Given the description of an element on the screen output the (x, y) to click on. 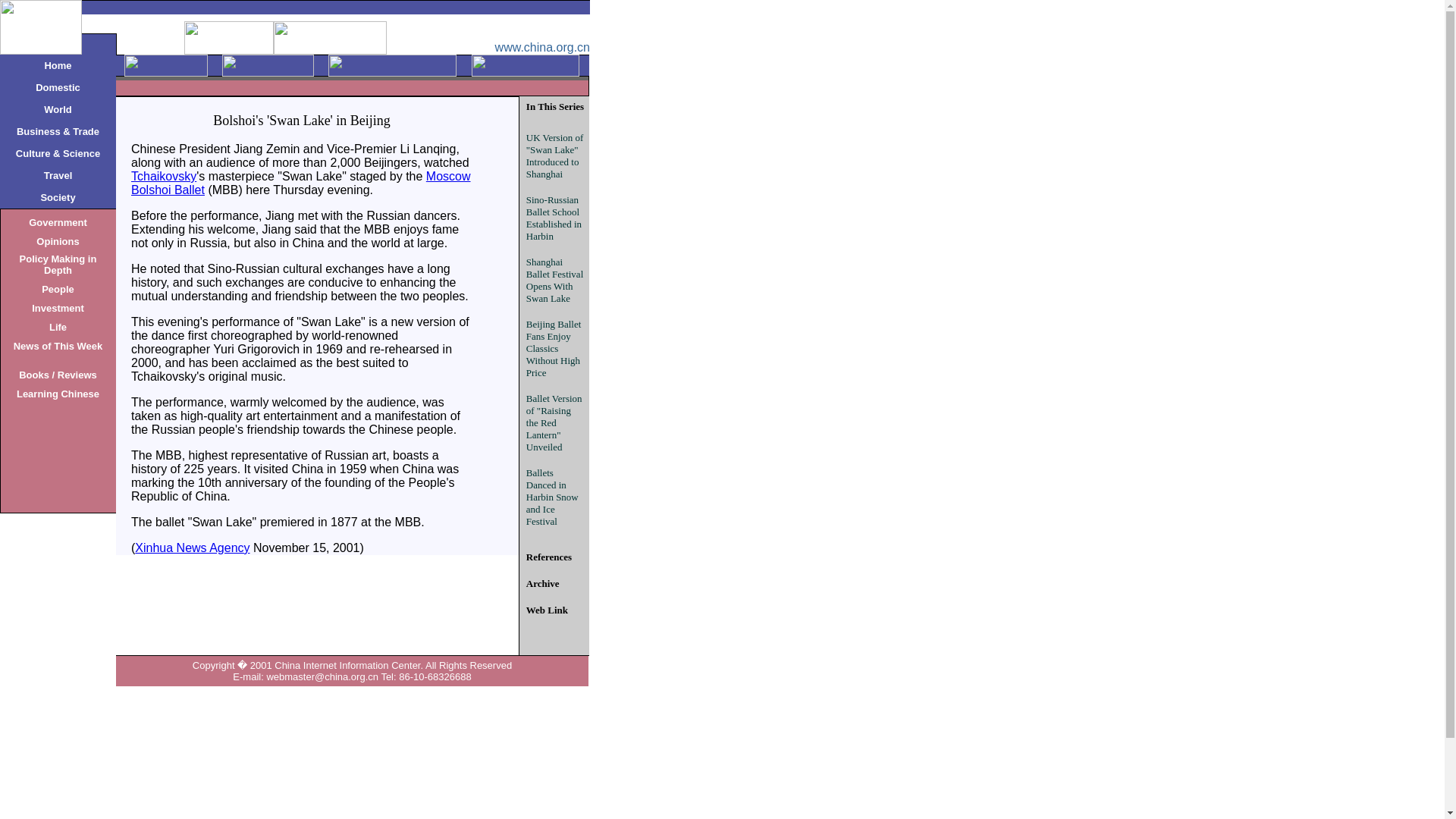
People (58, 287)
Investment (58, 307)
Government (58, 221)
News of This Week (58, 345)
Travel (57, 174)
Learning Chinese (57, 392)
UK Version of "Swan Lake" Introduced to Shanghai (554, 154)
Tchaikovsky (163, 175)
Domestic (57, 86)
Ballet Version of "Raising the Red Lantern" Unveiled (553, 421)
